Given the description of an element on the screen output the (x, y) to click on. 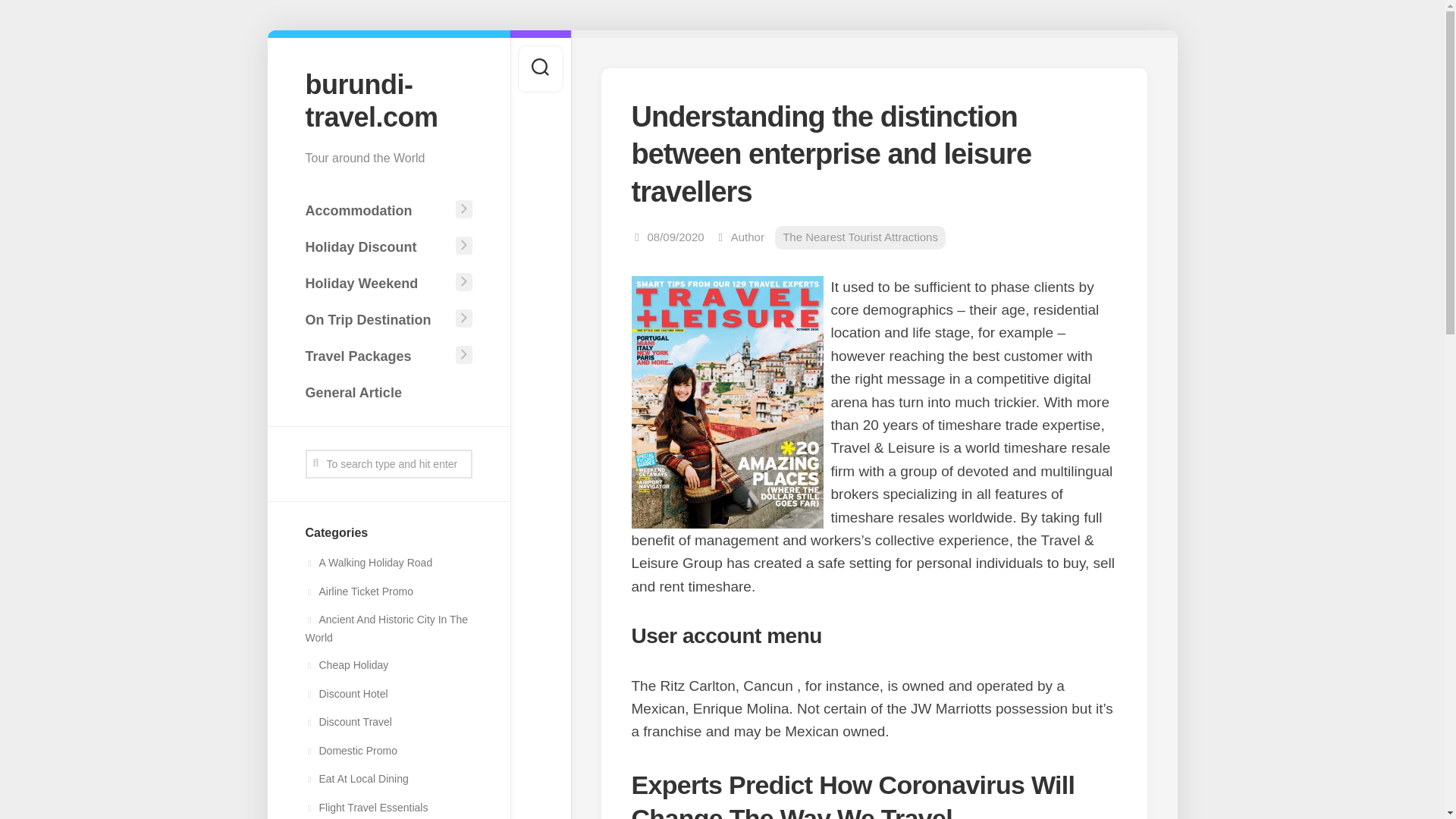
Posts by Author (747, 236)
Travel Packages (376, 356)
On Trip Destination (376, 319)
To search type and hit enter (387, 463)
Accommodation (376, 210)
A Walking Holiday Road (368, 562)
To search type and hit enter (387, 463)
burundi-travel.com (387, 100)
General Article (387, 392)
Holiday Discount (376, 246)
